Given the description of an element on the screen output the (x, y) to click on. 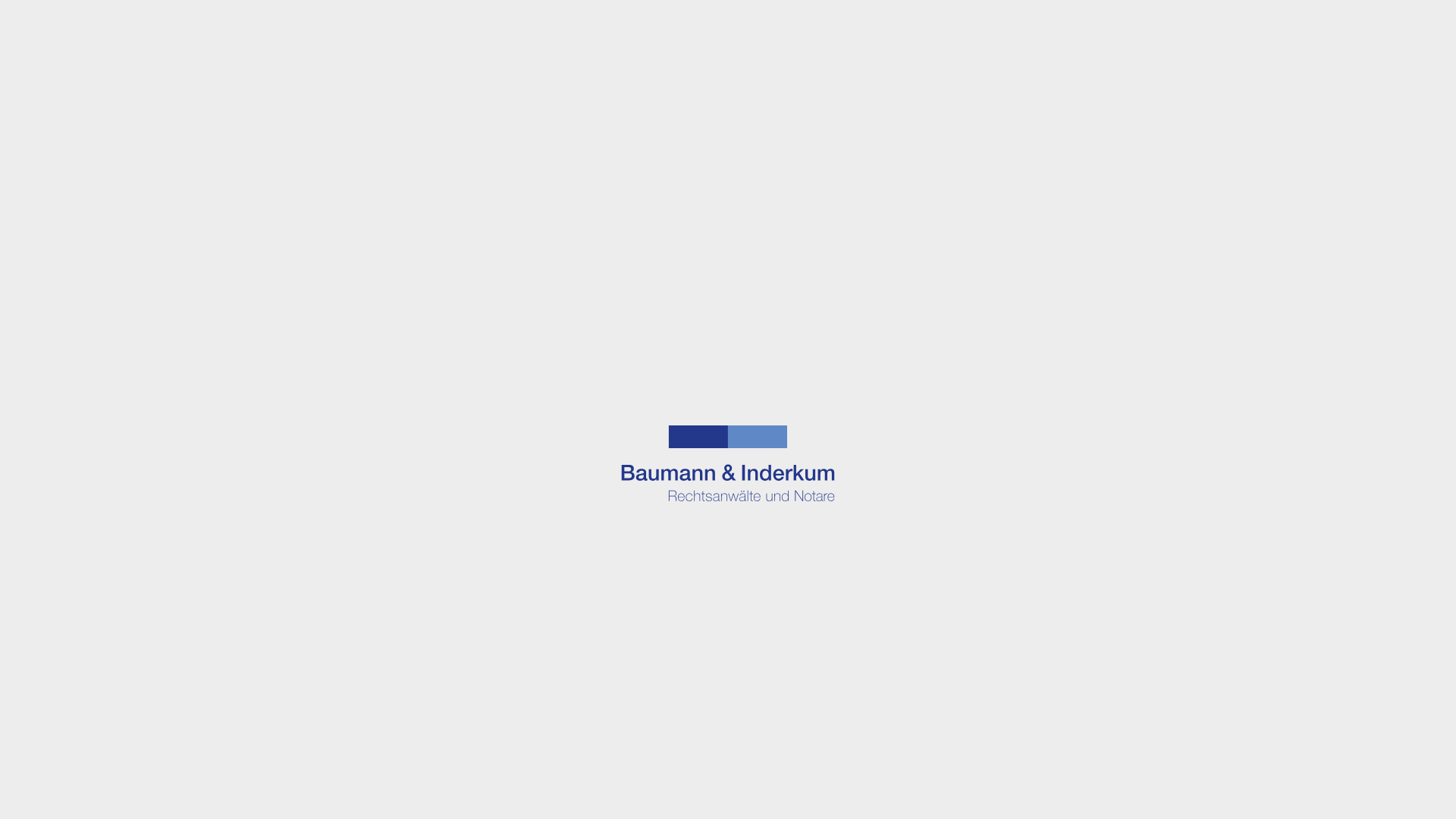
Netzwerk Element type: text (1063, 66)
Team Element type: text (993, 66)
Home Element type: text (743, 70)
Dienstleistungen Element type: text (905, 66)
Kanzlei Element type: text (811, 66)
